Given the description of an element on the screen output the (x, y) to click on. 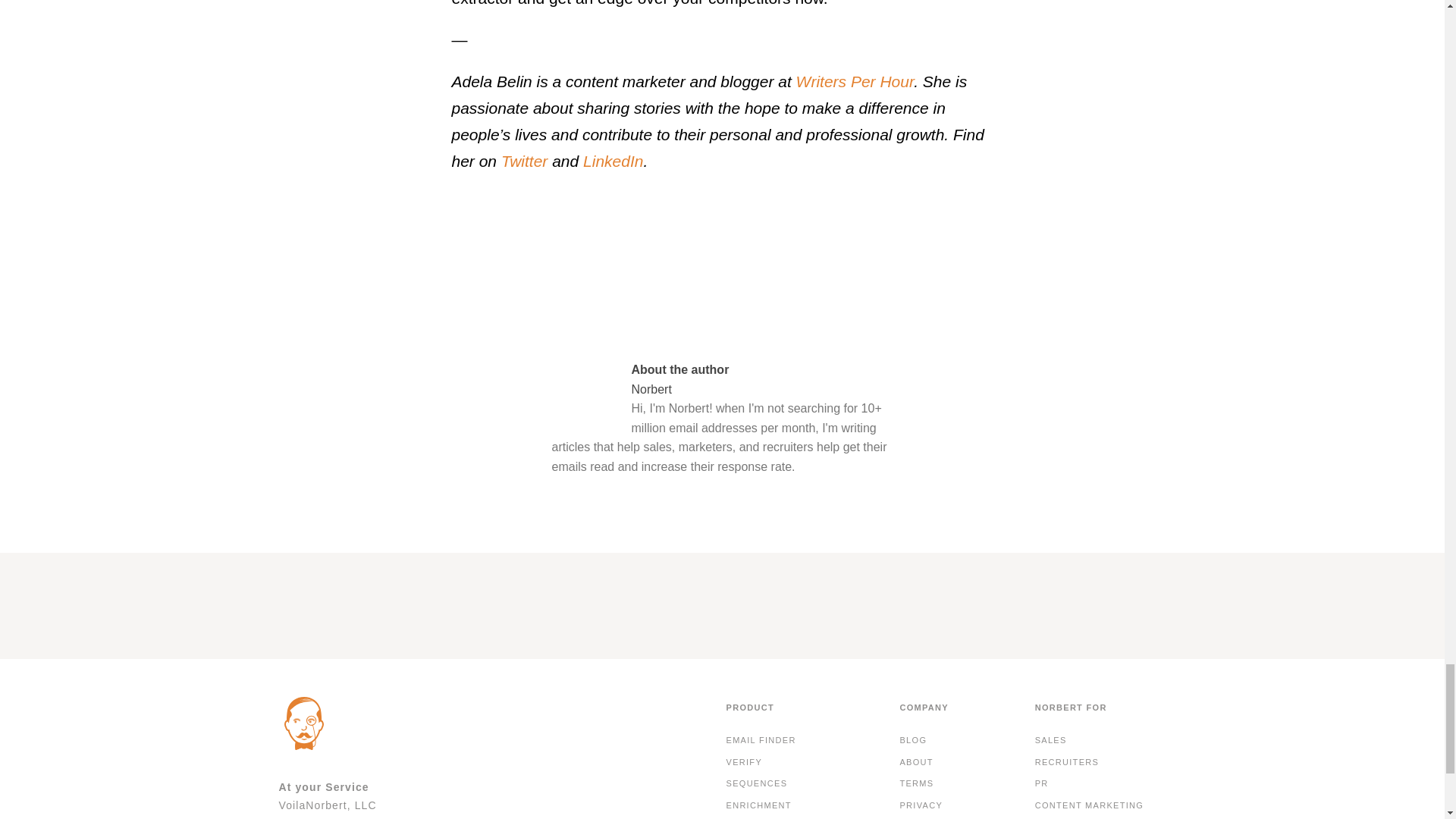
SEQUENCES (756, 783)
EMAIL FINDER (760, 740)
Twitter (521, 160)
Writers Per Hour (855, 81)
VERIFY (743, 762)
ENRICHMENT (758, 805)
GOOGLE SHEETS ADD-ON (789, 818)
LinkedIn (610, 160)
